Given the description of an element on the screen output the (x, y) to click on. 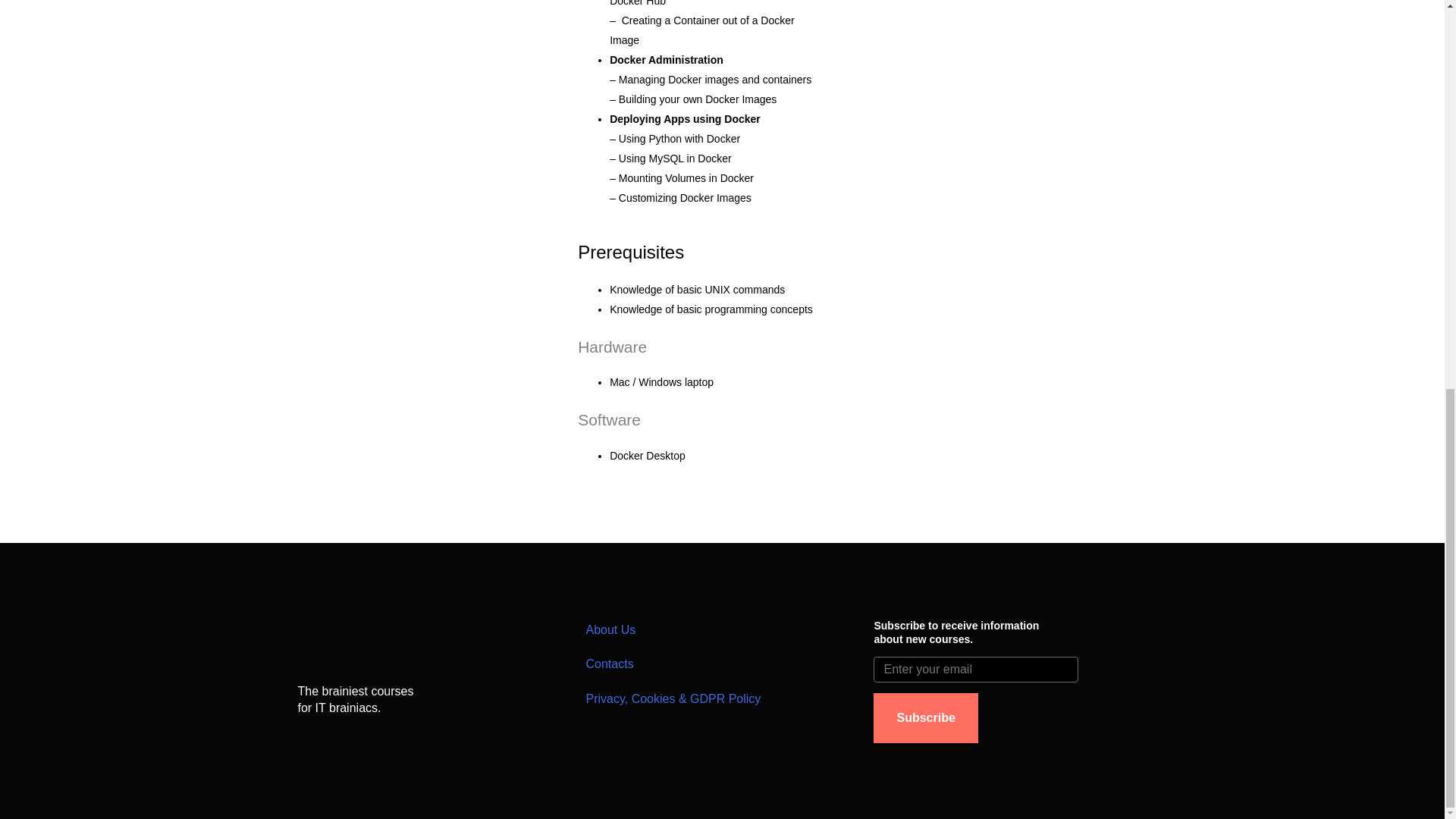
Contacts (722, 663)
Subscribe (924, 717)
About Us (722, 630)
Subscribe (924, 717)
